Given the description of an element on the screen output the (x, y) to click on. 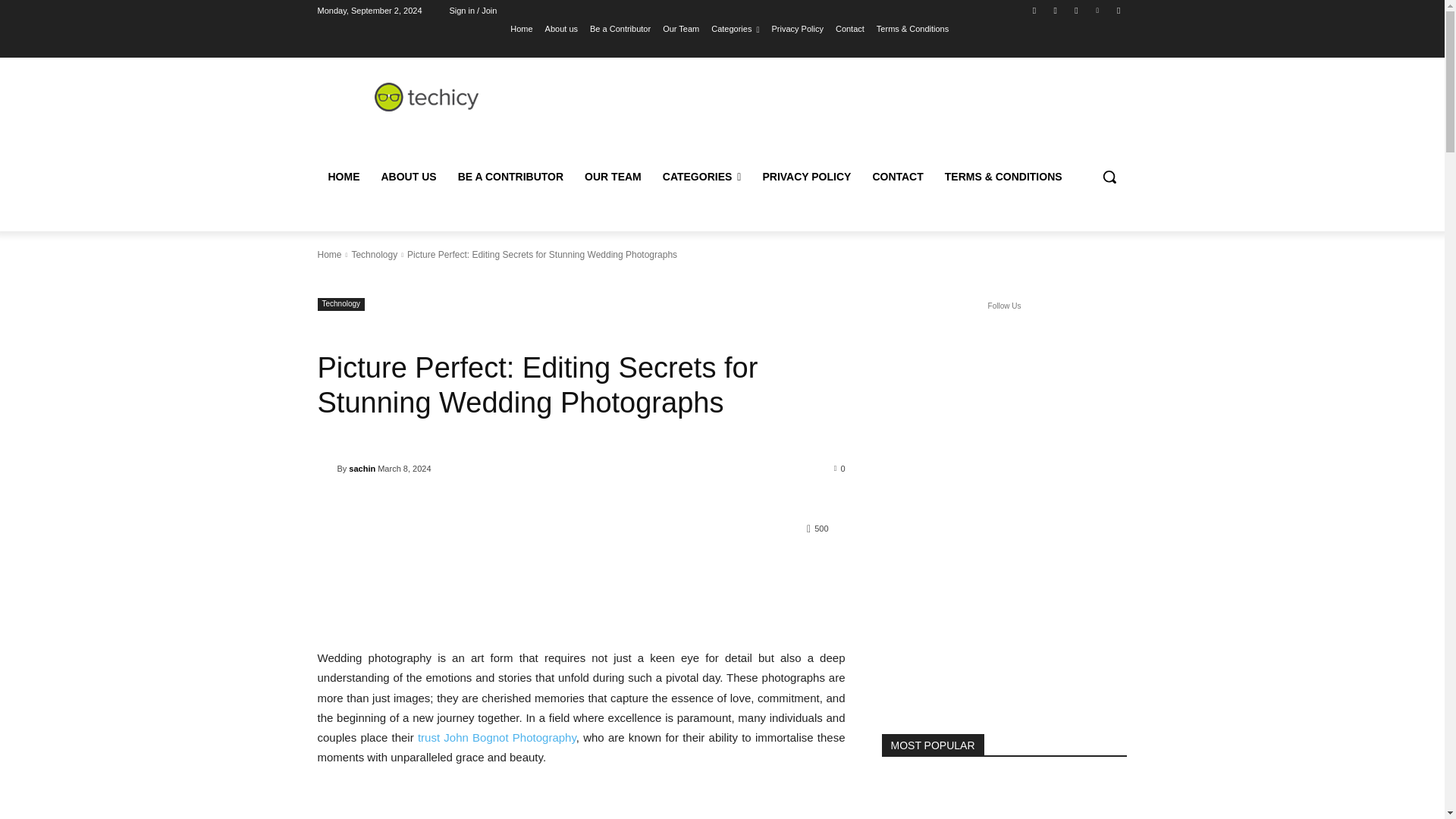
View all posts in Technology (373, 254)
Instagram (1055, 9)
Home (521, 28)
Contact (849, 28)
sachin (326, 468)
Facebook (1034, 9)
About us (561, 28)
Vimeo (1097, 9)
Categories (734, 28)
Privacy Policy (796, 28)
